Given the description of an element on the screen output the (x, y) to click on. 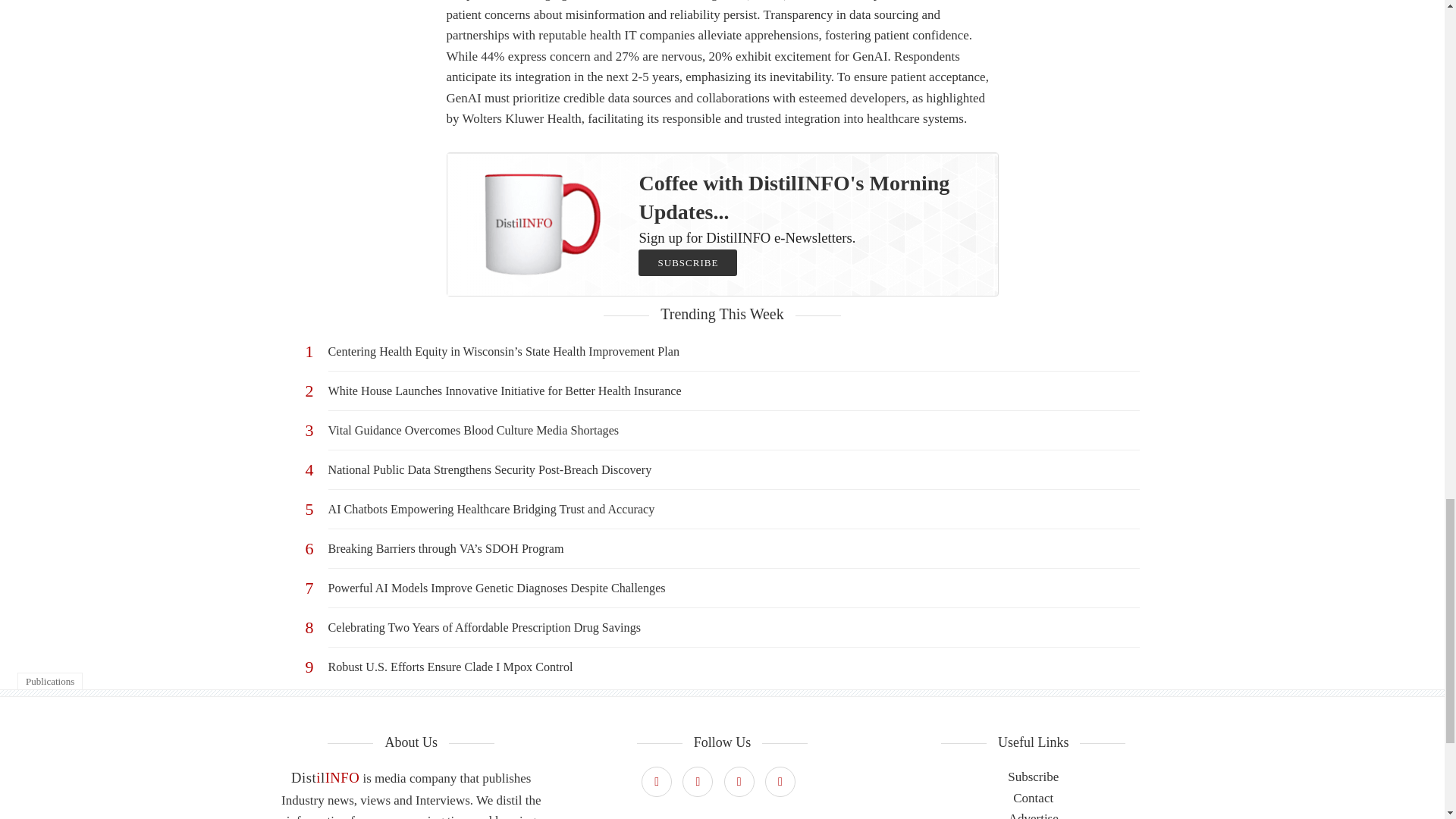
SUBSCRIBE (687, 262)
Vital Guidance Overcomes Blood Culture Media Shortages (732, 430)
Robust U.S. Efforts Ensure Clade I Mpox Control (732, 666)
